Given the description of an element on the screen output the (x, y) to click on. 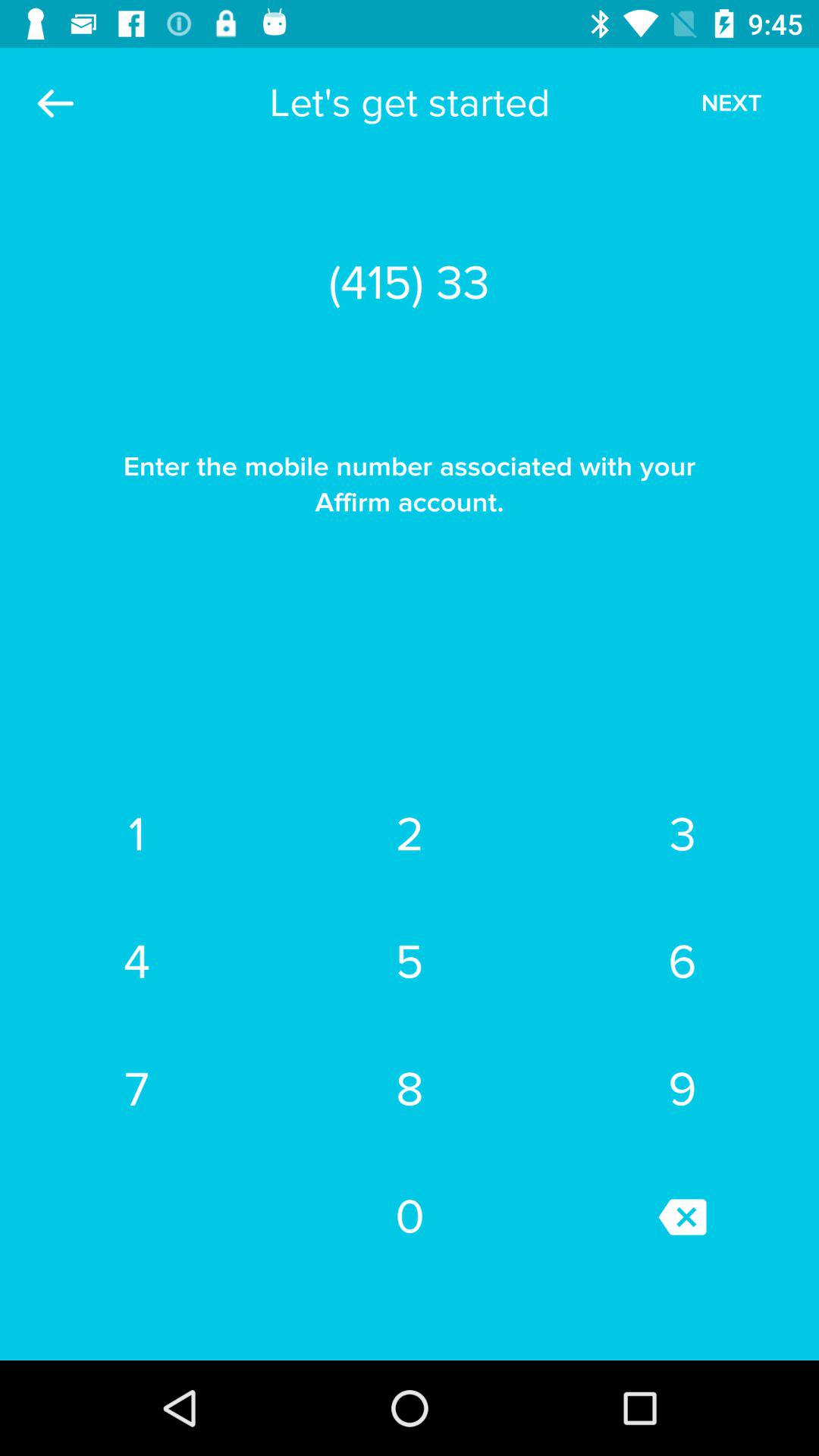
turn off item to the left of 3 (409, 834)
